Given the description of an element on the screen output the (x, y) to click on. 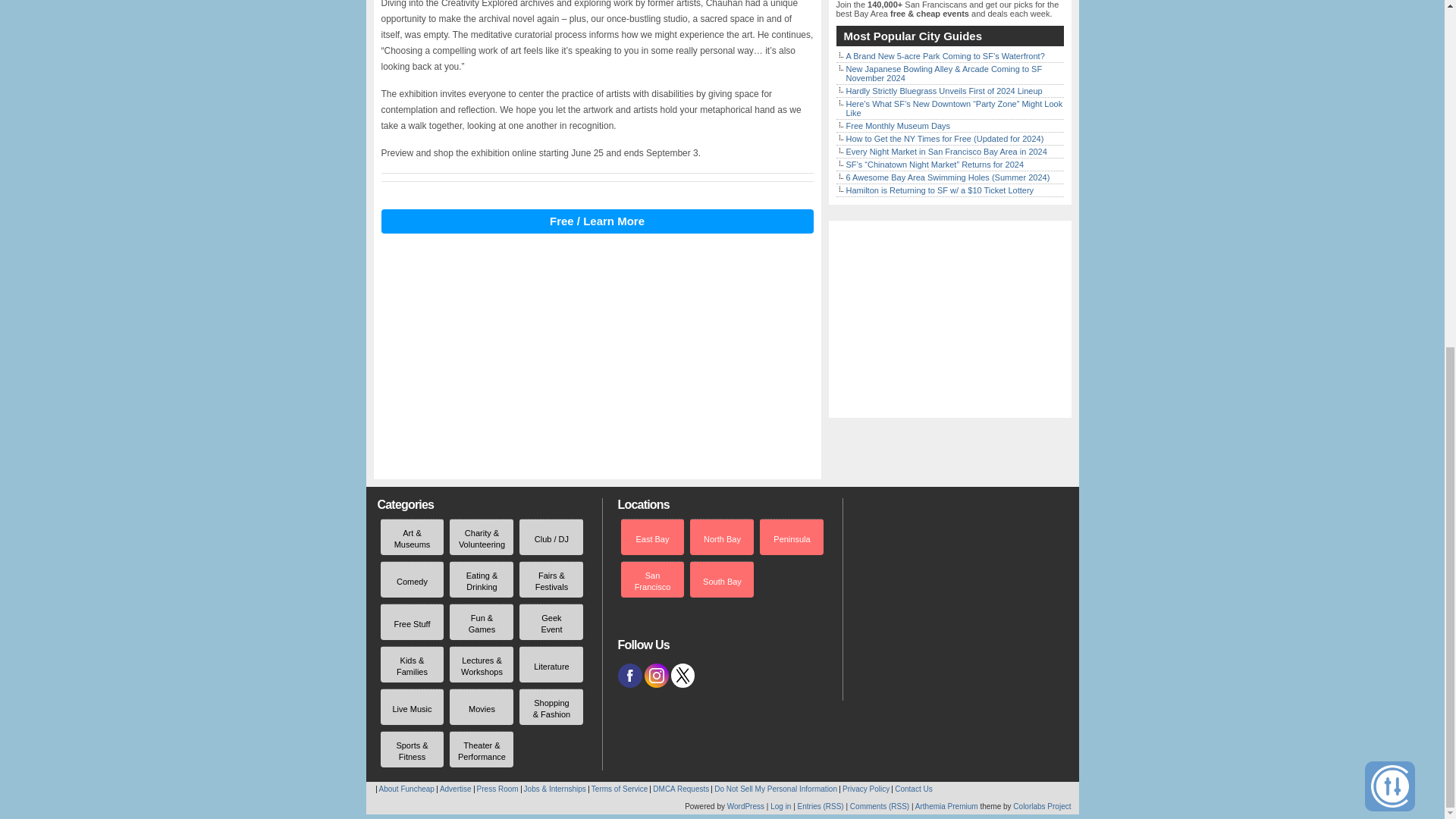
Hardly Strictly Bluegrass Unveils First of 2024 Lineup (943, 90)
